Given the description of an element on the screen output the (x, y) to click on. 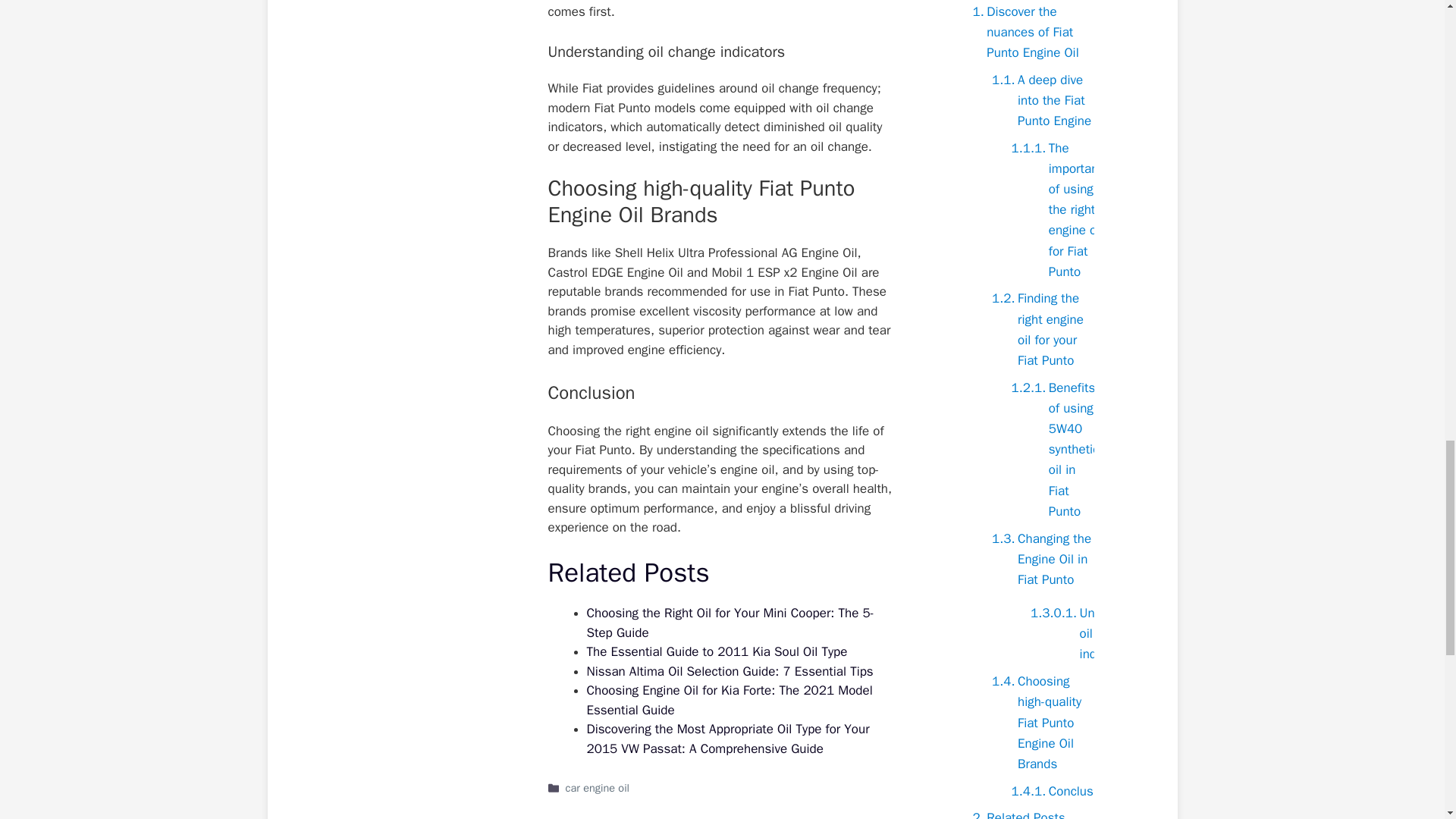
The Essential Guide to 2011 Kia Soul Oil Type (716, 651)
car engine oil (597, 787)
Nissan Altima Oil Selection Guide: 7 Essential Tips (729, 671)
